Given the description of an element on the screen output the (x, y) to click on. 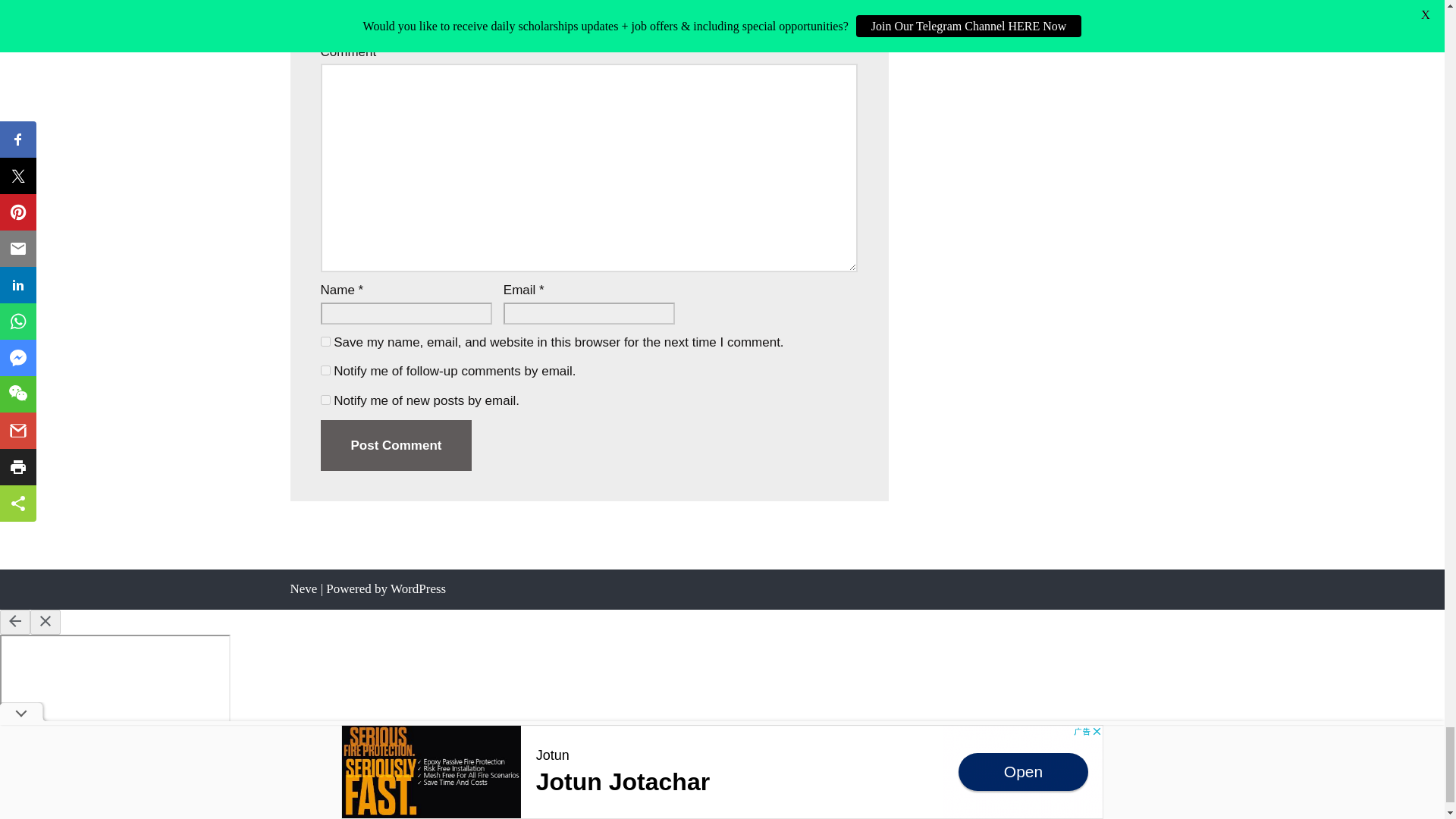
Post Comment (395, 445)
subscribe (325, 399)
yes (325, 341)
subscribe (325, 370)
